Given the description of an element on the screen output the (x, y) to click on. 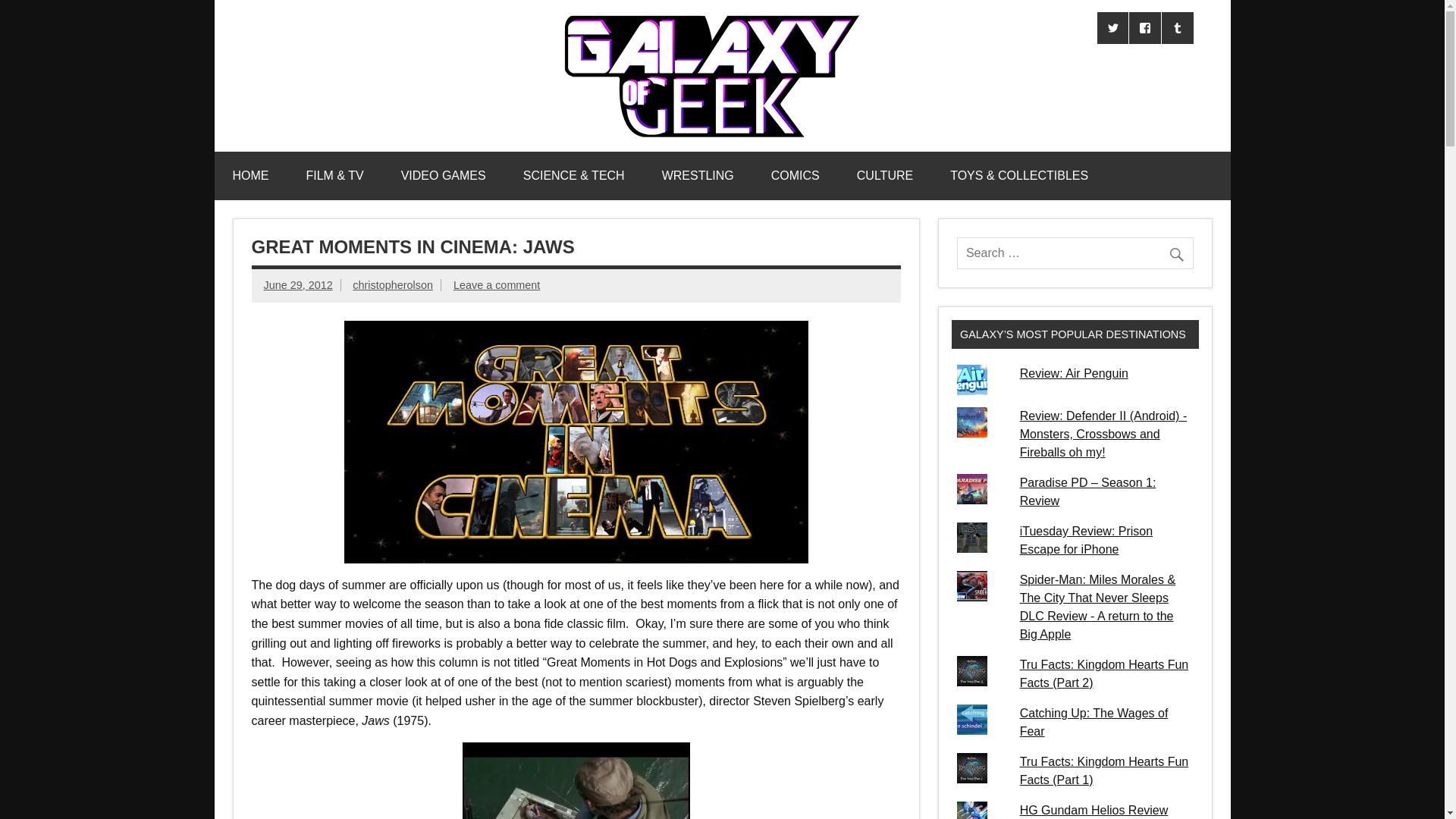
COMICS (795, 175)
Galaxy of Geek (992, 27)
View all posts by christopherolson (392, 285)
Leave a comment (496, 285)
VIDEO GAMES (442, 175)
christopherolson (392, 285)
WRESTLING (697, 175)
HOME (250, 175)
June 29, 2012 (298, 285)
CULTURE (884, 175)
